Given the description of an element on the screen output the (x, y) to click on. 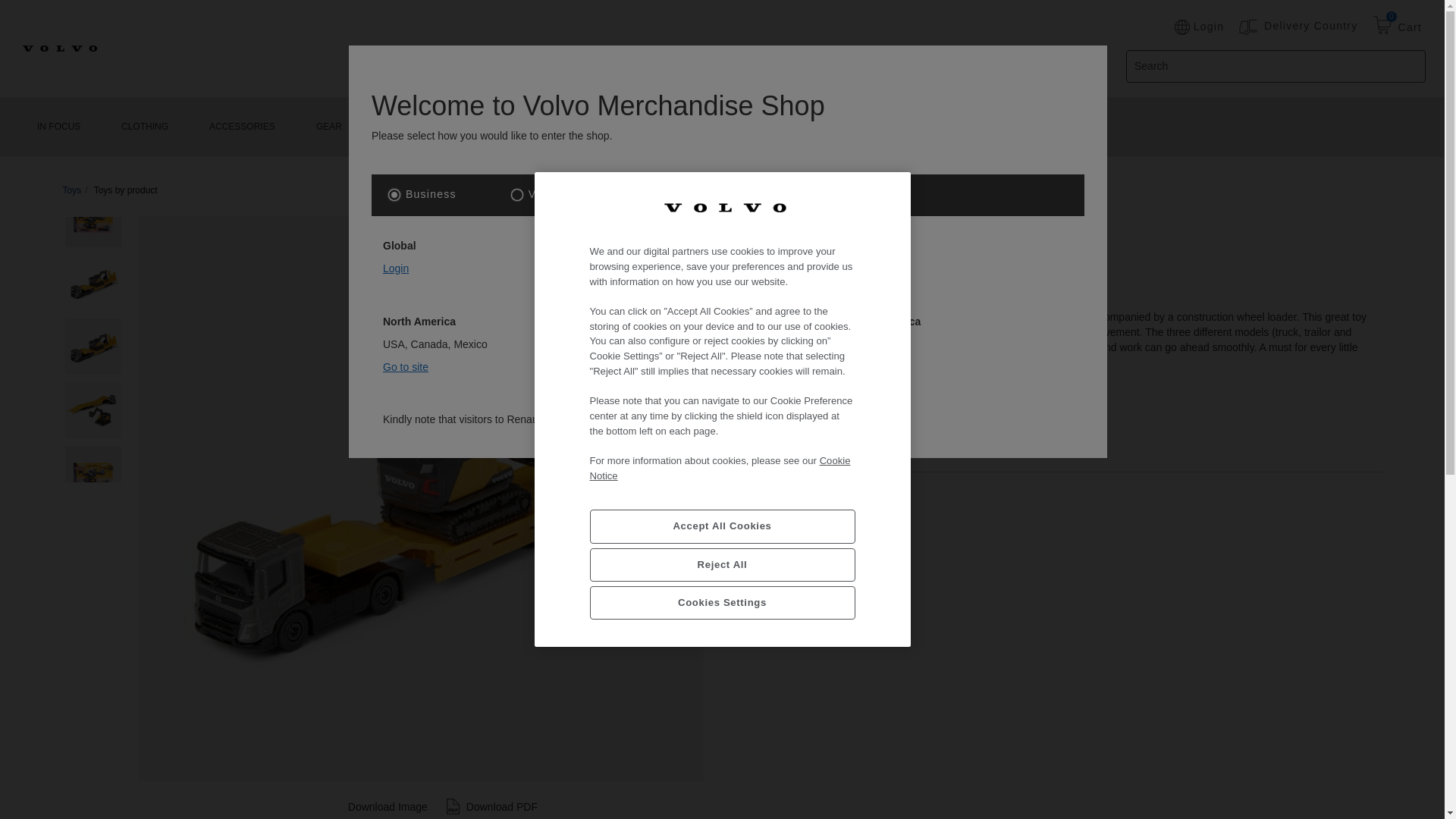
1 (394, 194)
1 (755, 439)
0 (1381, 26)
 Max 100 characters. (1275, 65)
2 (516, 194)
Go to site (881, 344)
Download PDF (490, 807)
Go to site (642, 344)
Login (395, 268)
IN FOCUS (58, 127)
CLOTHING (144, 127)
Go to site (405, 367)
0 (1382, 26)
Login (1198, 27)
Company Logo (724, 207)
